Given the description of an element on the screen output the (x, y) to click on. 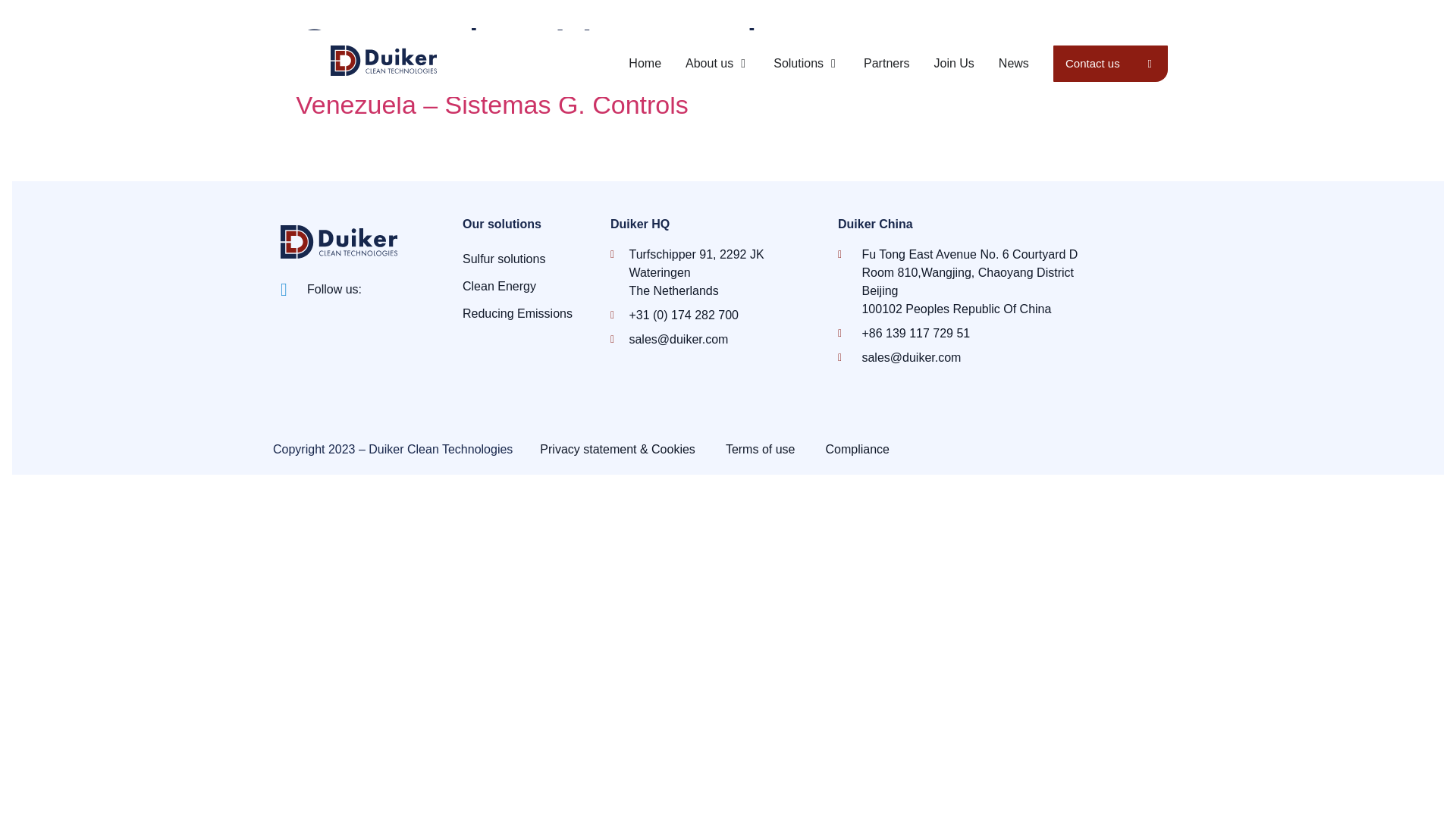
Contact us (1109, 63)
Clean Energy (529, 286)
Join Us (954, 63)
Home (645, 63)
News (1013, 63)
About us (709, 63)
Sulfur solutions (529, 258)
Reducing Emissions (529, 313)
Follow us: (321, 289)
Partners (885, 63)
